Given the description of an element on the screen output the (x, y) to click on. 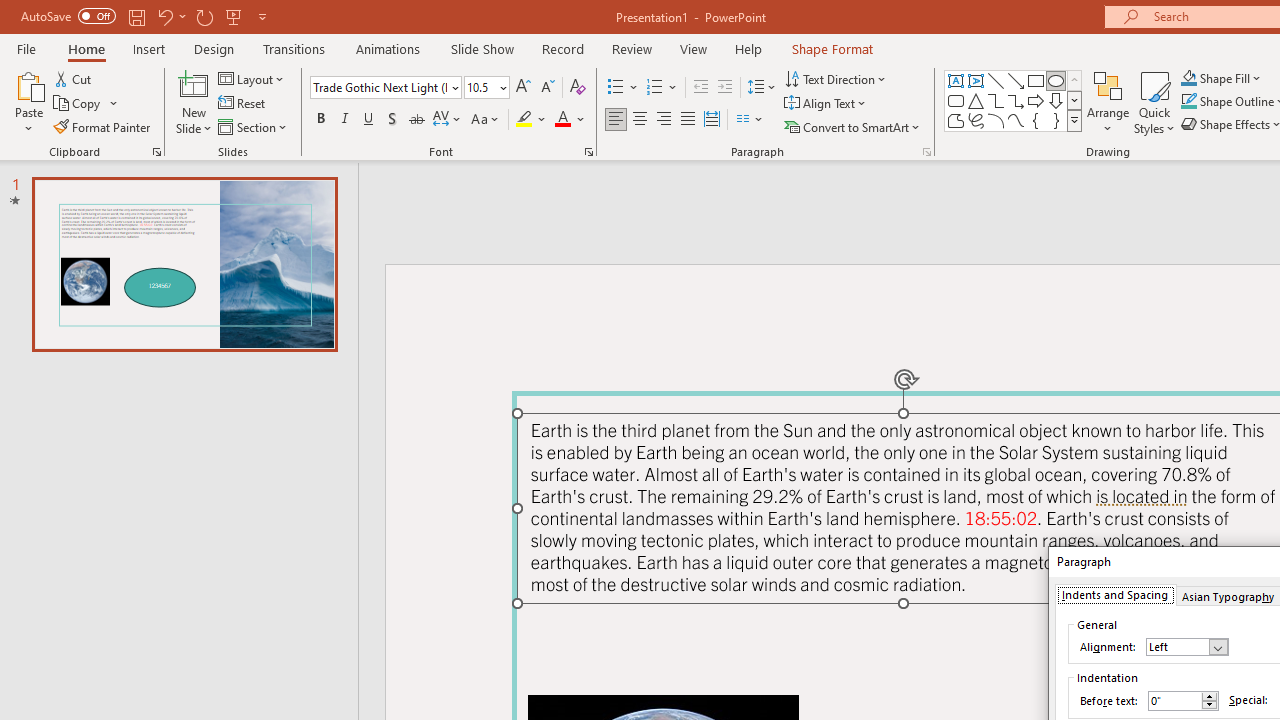
Before text (1183, 701)
